Given the description of an element on the screen output the (x, y) to click on. 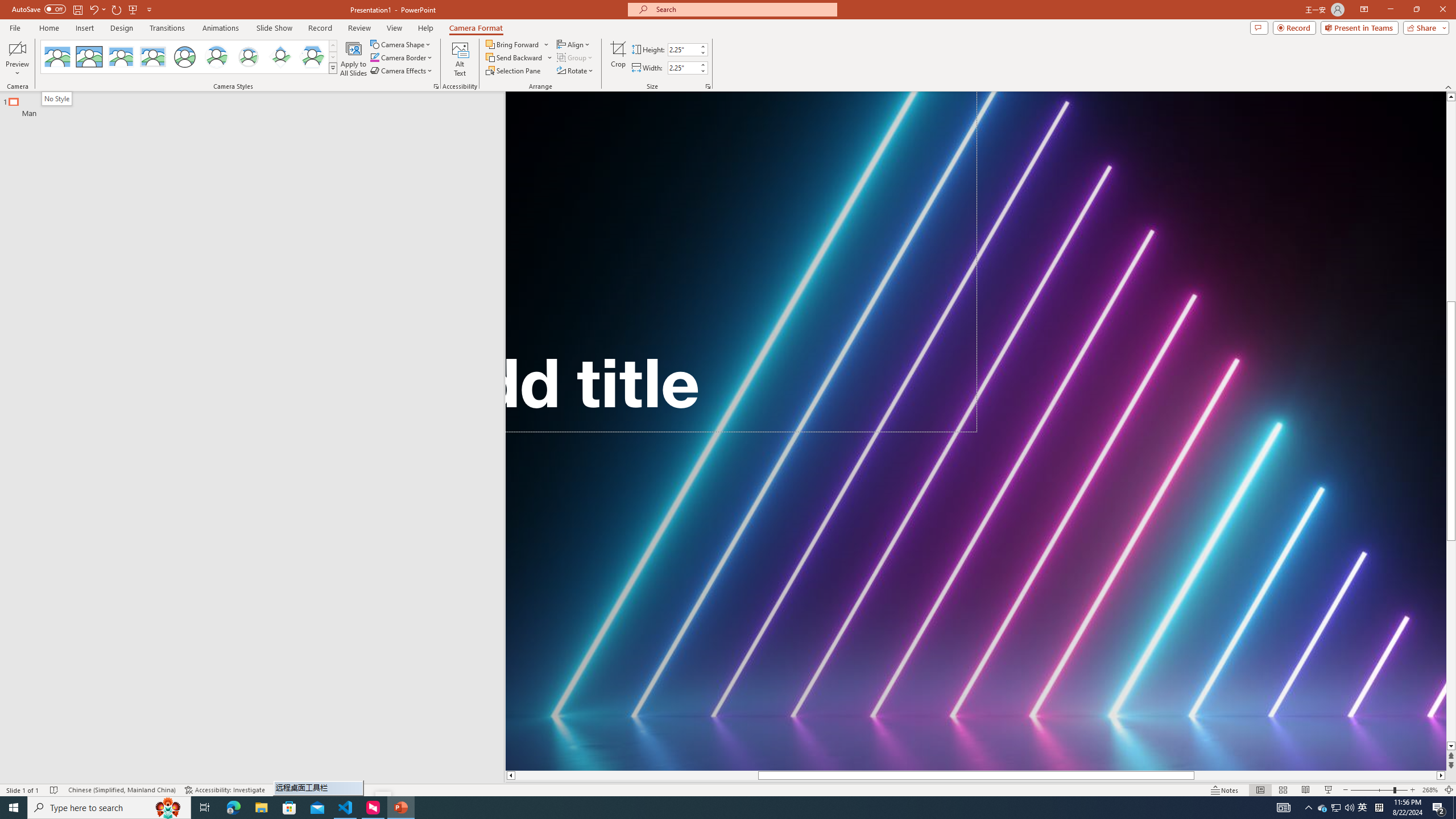
Soft Edge Rectangle (152, 56)
Simple Frame Circle (184, 56)
No Style (57, 98)
Camera Shape (400, 44)
Center Shadow Diamond (280, 56)
Center Shadow Circle (216, 56)
